Given the description of an element on the screen output the (x, y) to click on. 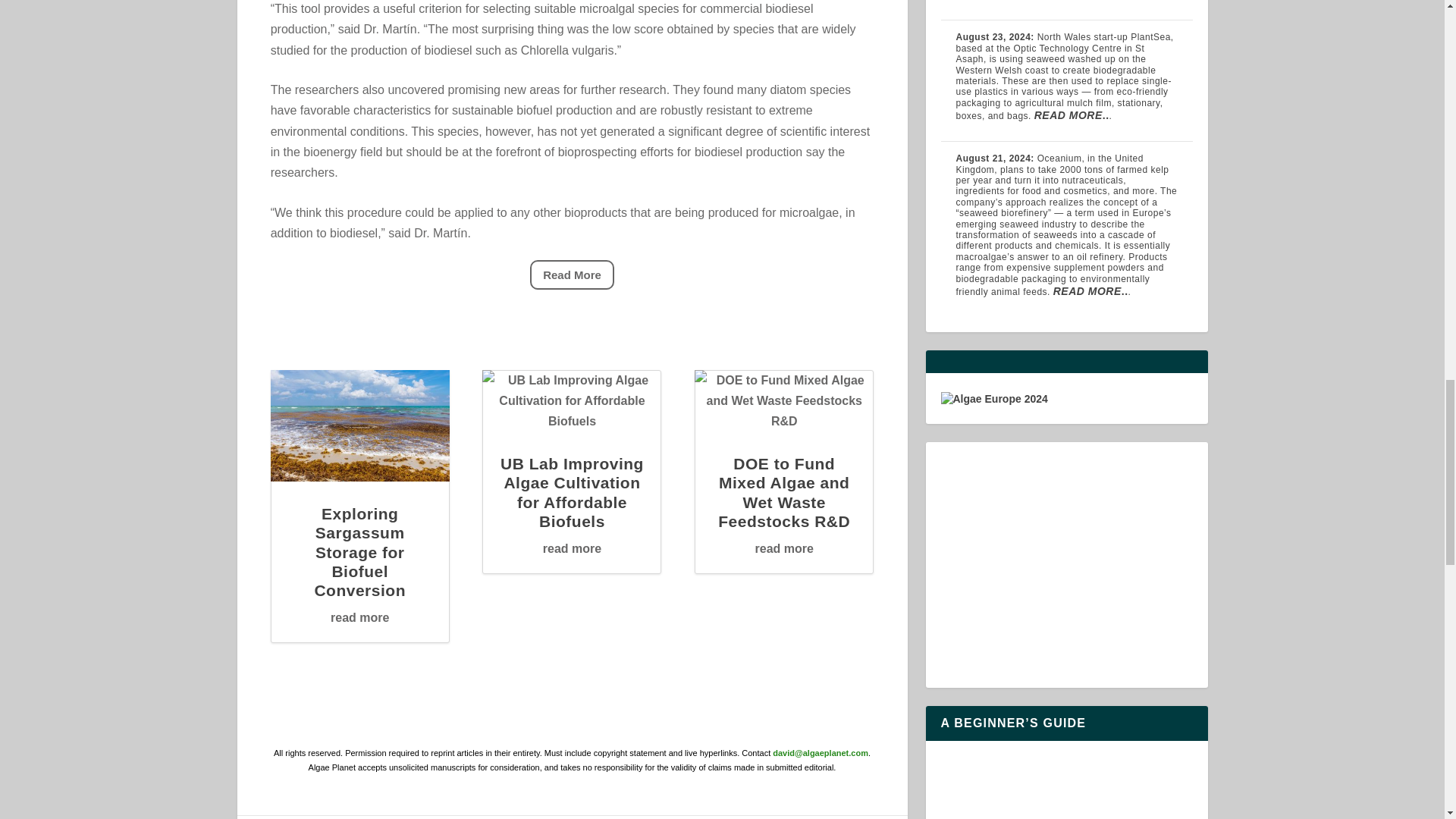
UB Lab Improving Algae Cultivation for Affordable Biofuels (571, 492)
Read More (571, 274)
read more (572, 548)
read more (359, 617)
Exploring Sargassum Storage for Biofuel Conversion (360, 551)
